Given the description of an element on the screen output the (x, y) to click on. 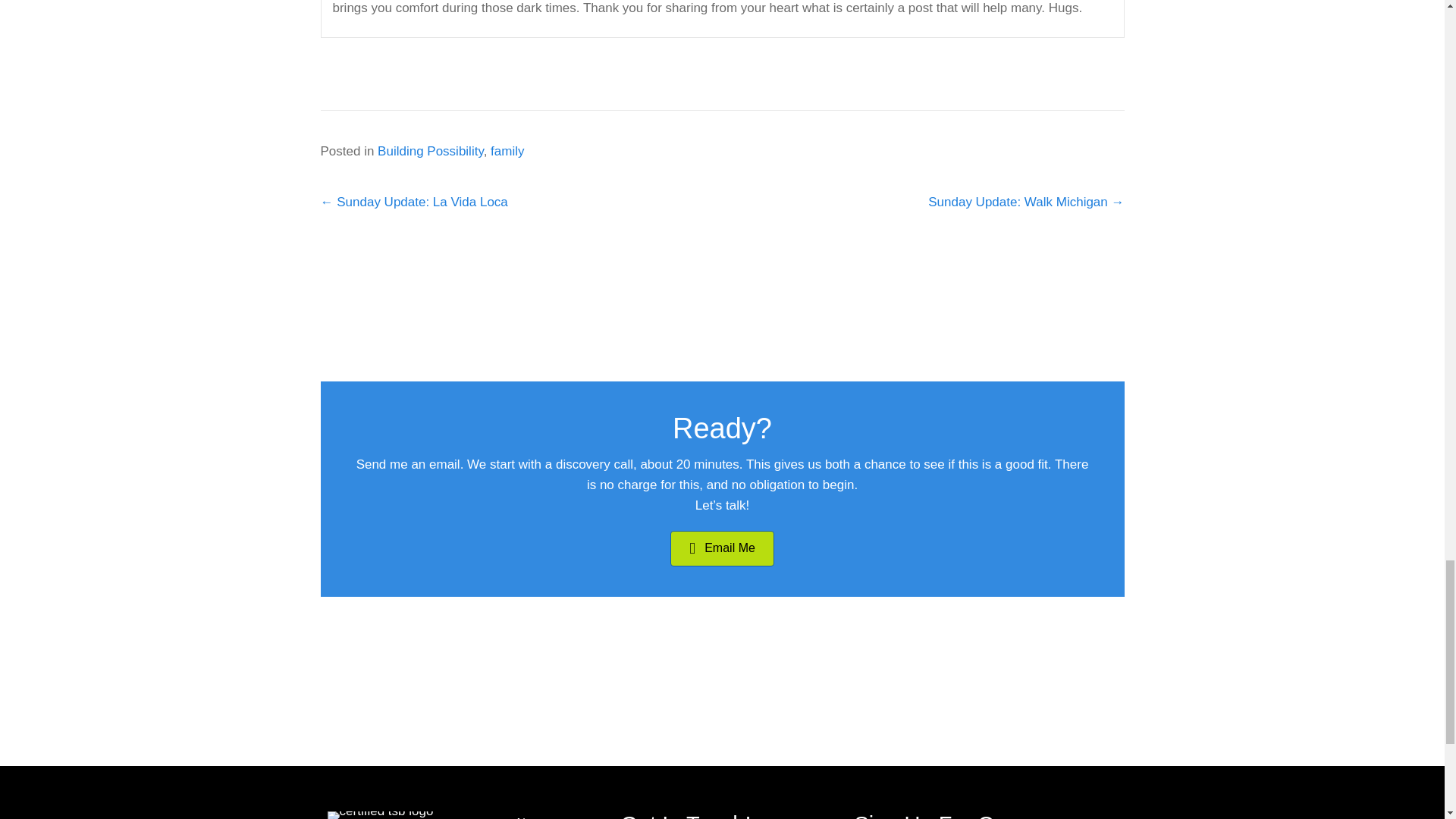
certified-tsb-iowa-logo (380, 815)
